Given the description of an element on the screen output the (x, y) to click on. 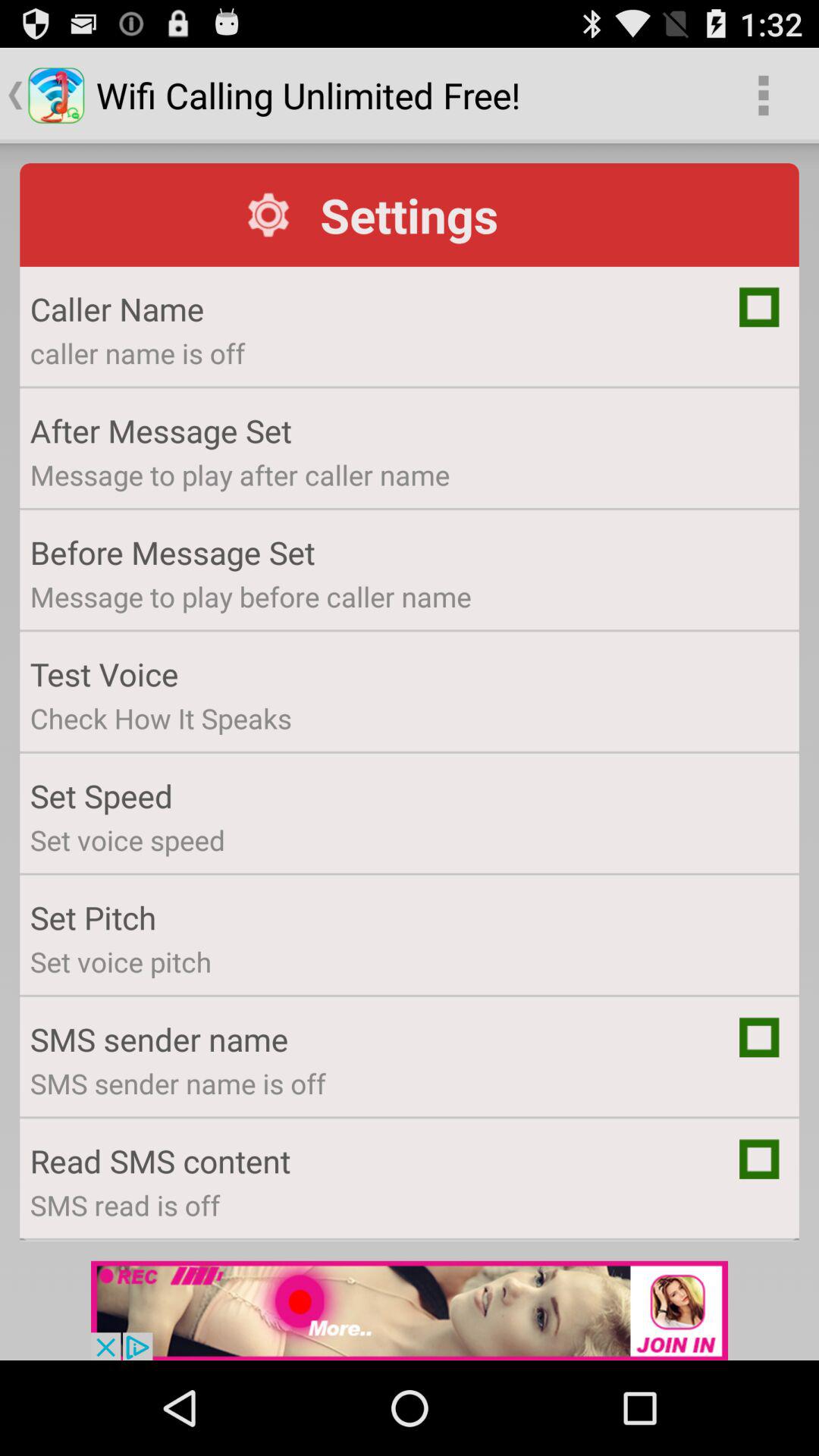
check box to read sms (759, 1159)
